Given the description of an element on the screen output the (x, y) to click on. 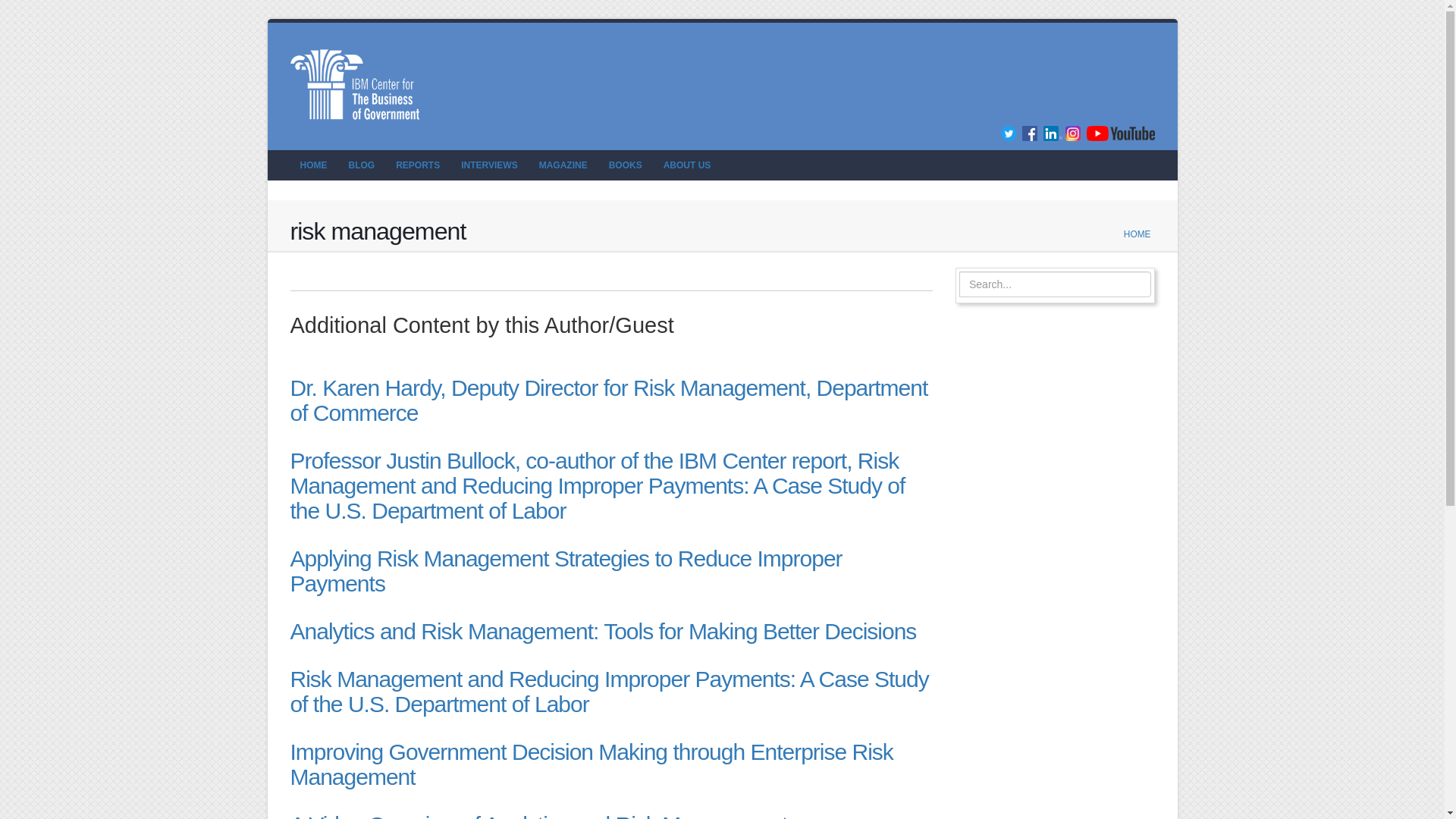
HOME (312, 164)
REPORTS (417, 164)
BLOG (360, 164)
MAGAZINE (562, 164)
ABOUT US (686, 164)
BOOKS (625, 164)
INTERVIEWS (489, 164)
HOME (1137, 234)
